Given the description of an element on the screen output the (x, y) to click on. 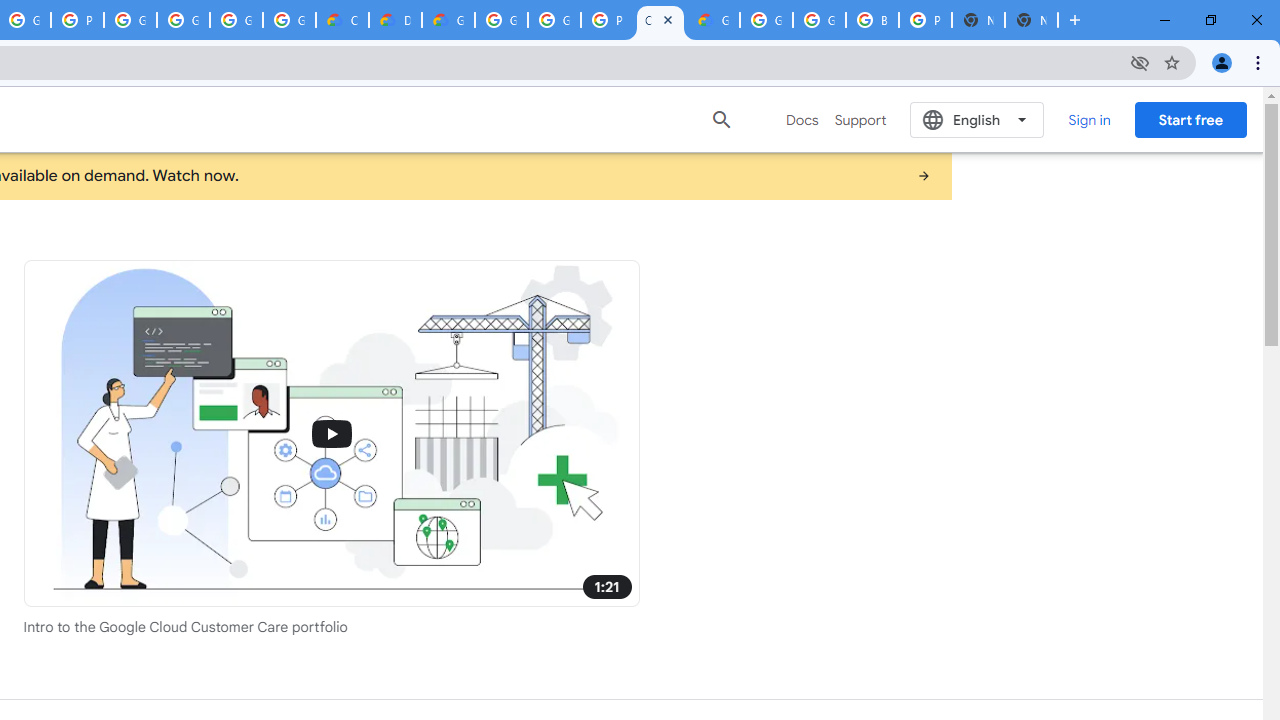
Docs (802, 119)
Google Cloud Platform (554, 20)
Support (860, 119)
Customer Care | Google Cloud (342, 20)
Google Cloud Platform (819, 20)
